Given the description of an element on the screen output the (x, y) to click on. 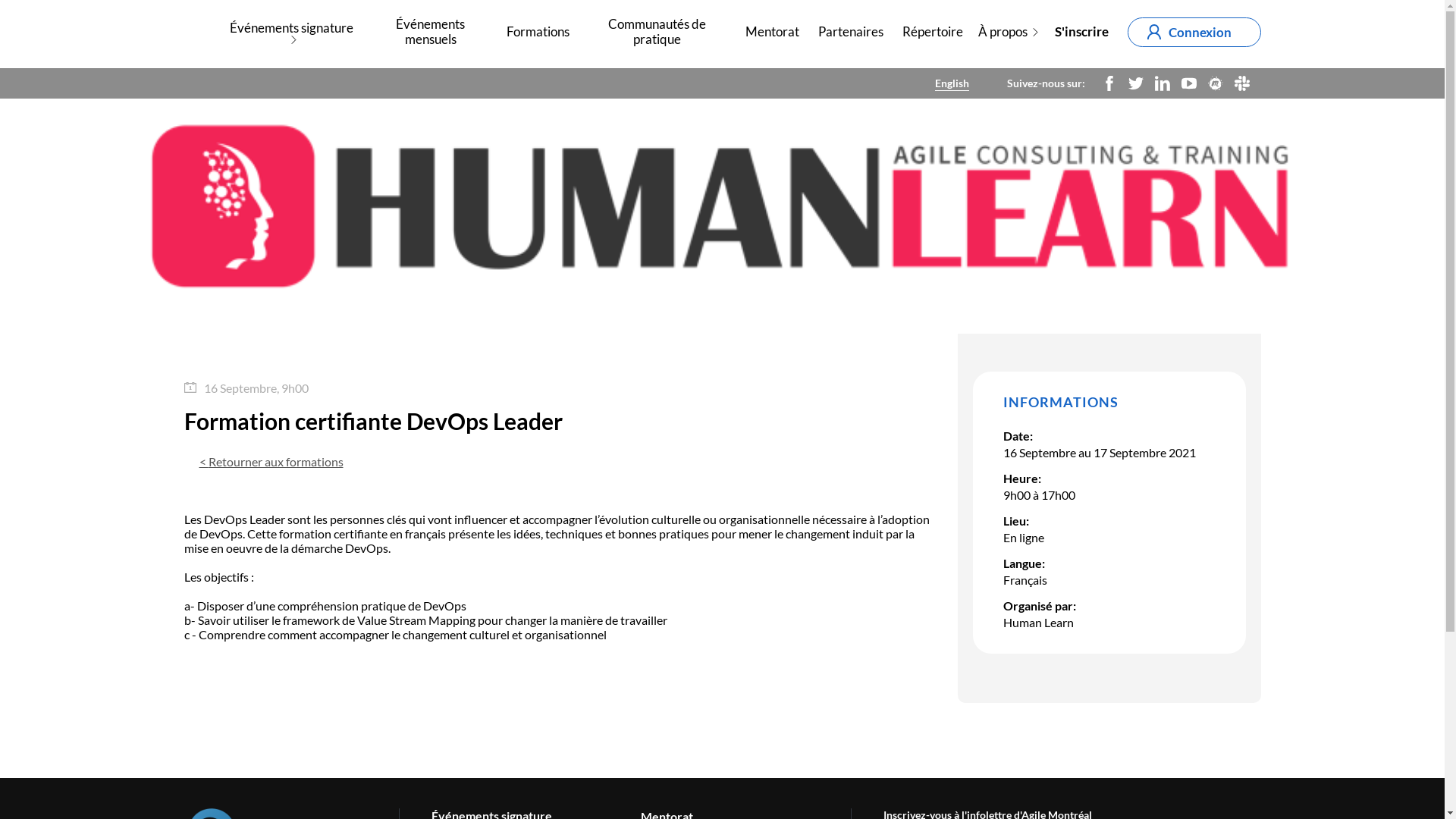
Connexion Element type: text (1193, 31)
English Element type: text (951, 82)
S'inscrire Element type: text (1080, 31)
Mentorat Element type: text (771, 31)
Formations Element type: text (537, 31)
Retourner aux formations Element type: text (270, 461)
Partenaires Element type: text (849, 31)
